Given the description of an element on the screen output the (x, y) to click on. 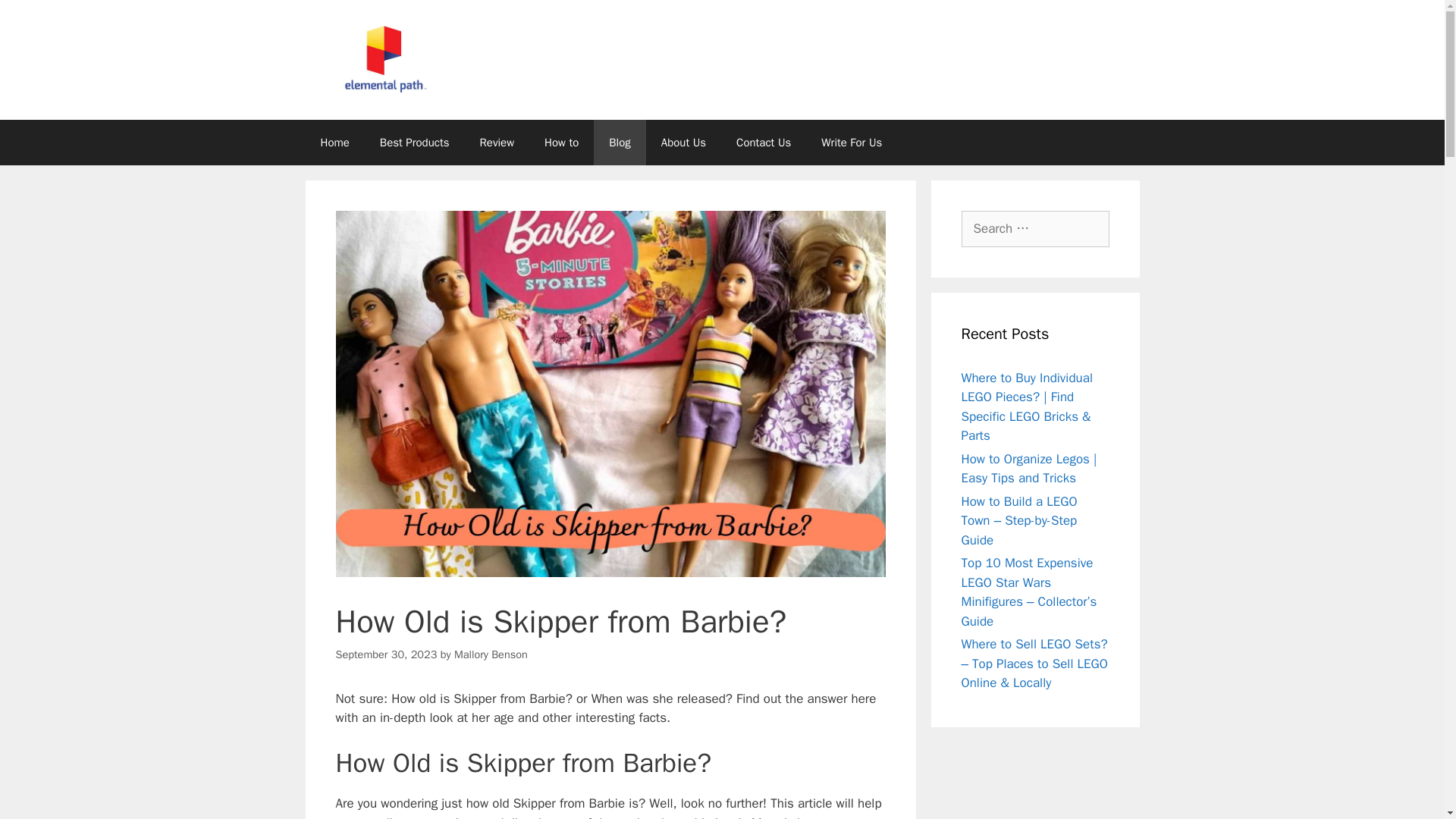
How to (561, 142)
View all posts by Mallory Benson (490, 653)
Search (35, 18)
Blog (619, 142)
Search for: (1034, 228)
Best Products (414, 142)
Home (334, 142)
Mallory Benson (490, 653)
Review (496, 142)
Write For Us (851, 142)
